Given the description of an element on the screen output the (x, y) to click on. 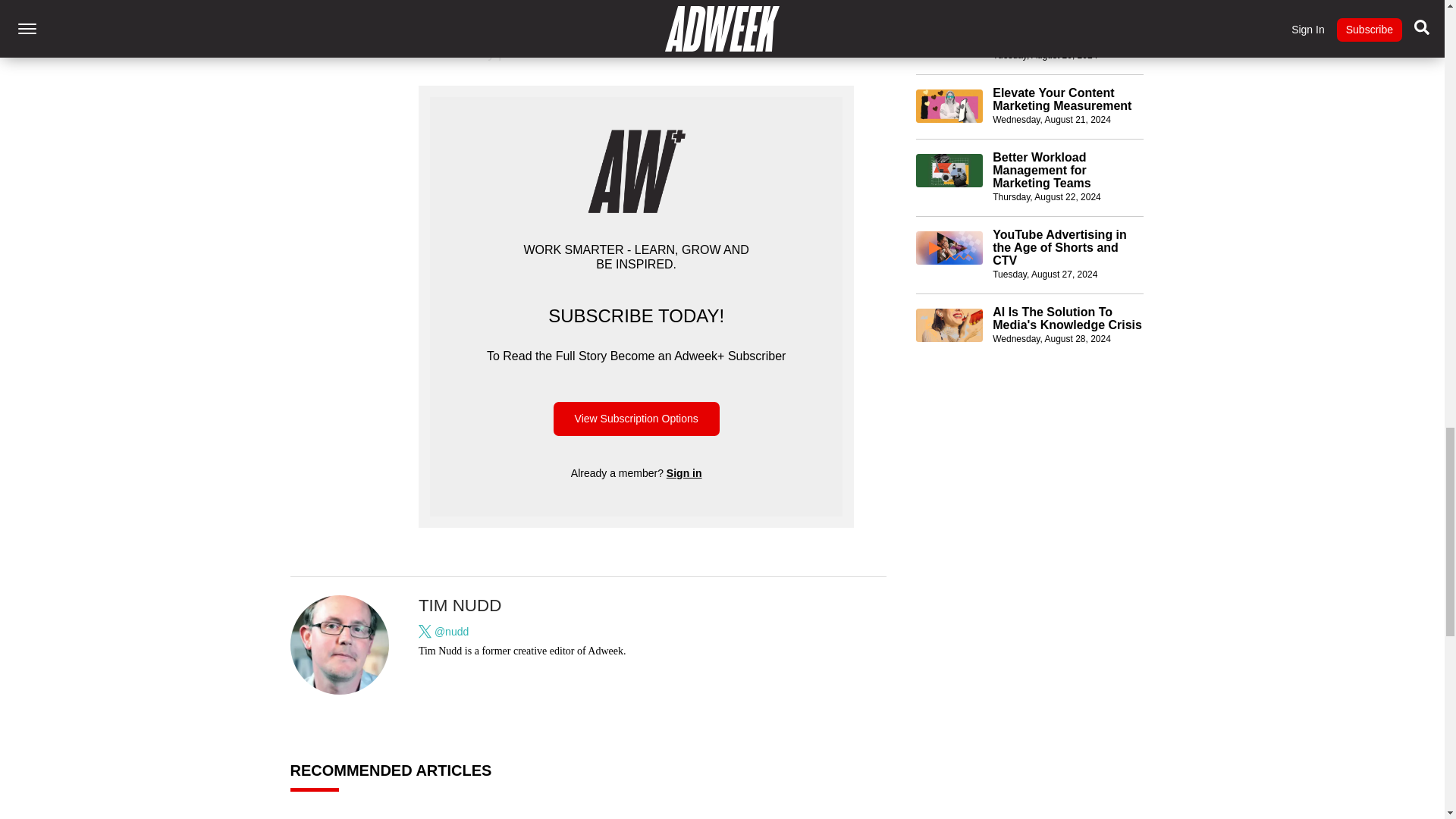
View Subscription Options (636, 418)
Sign in (683, 472)
Qatalog-Webinar-082824-Header (948, 295)
Acxiom-Webinar-082024-Header (948, 7)
Nativo-Webinar-082124-Header (948, 76)
PixabilityWebinar082724Header (948, 218)
Adobe-Webinar-082224-Header (948, 141)
